Given the description of an element on the screen output the (x, y) to click on. 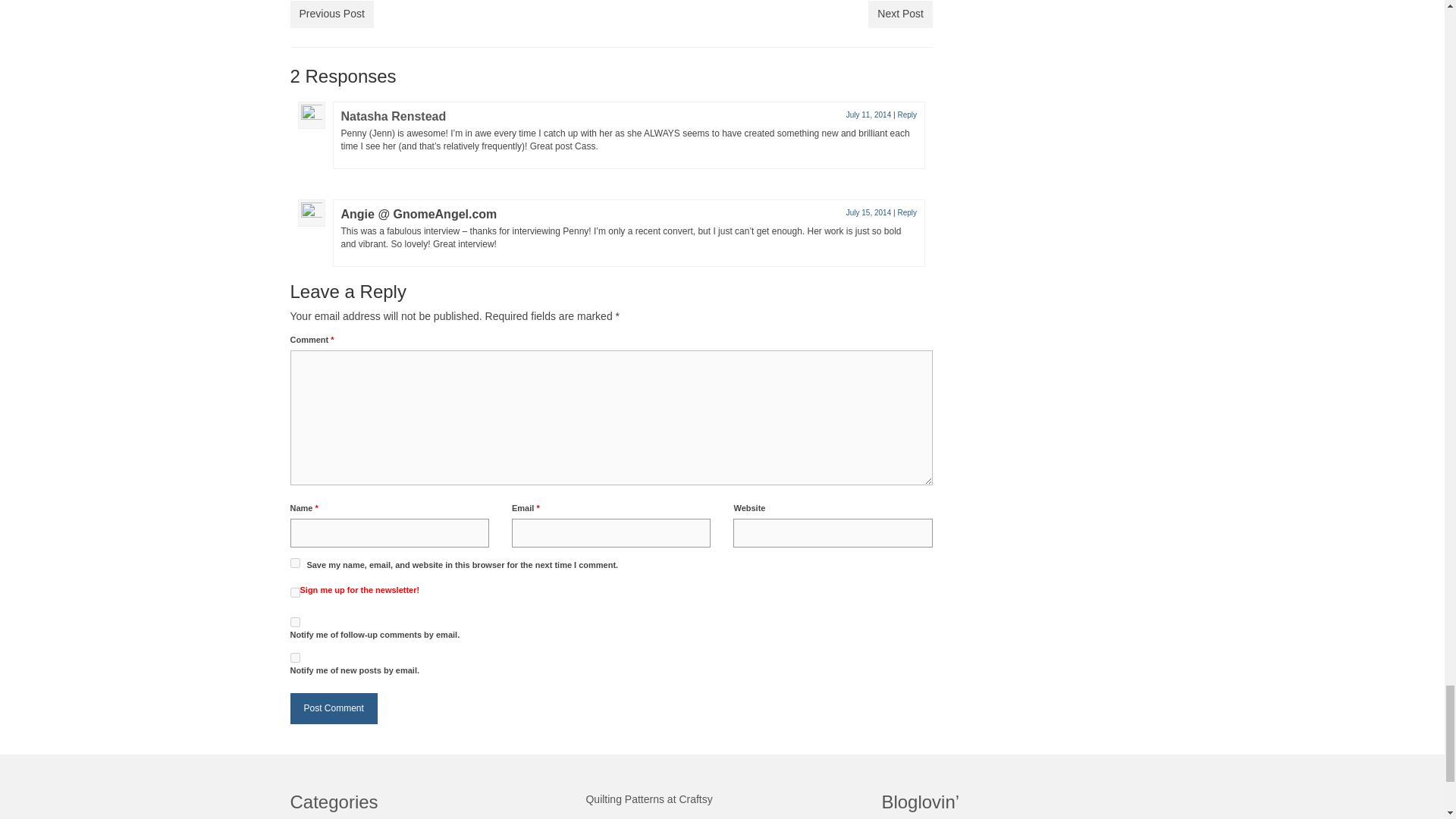
subscribe (294, 622)
1 (294, 592)
Post Comment (333, 707)
subscribe (294, 657)
yes (294, 562)
